Given the description of an element on the screen output the (x, y) to click on. 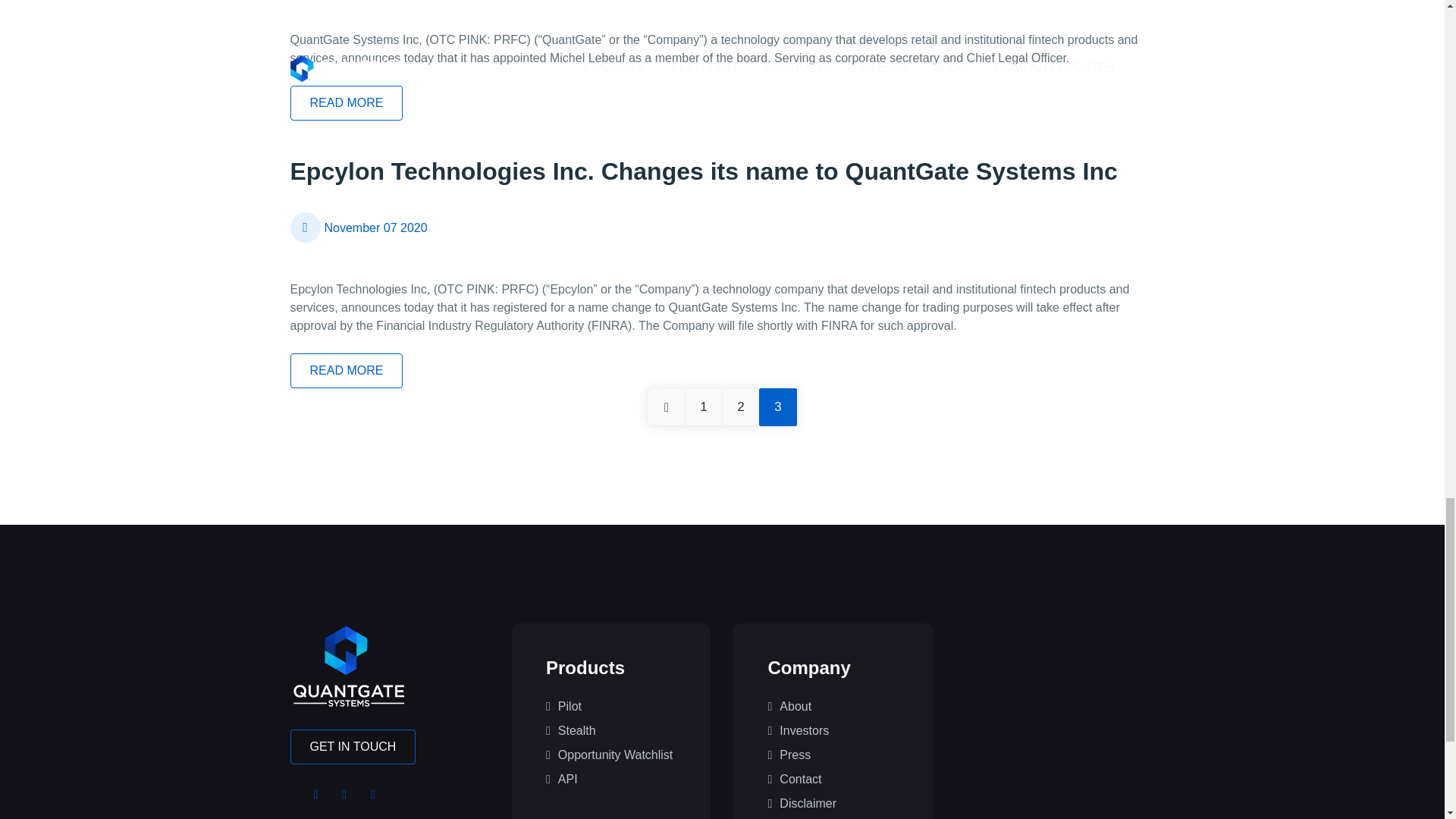
READ MORE (346, 102)
Pilot (611, 706)
2 (741, 406)
Press (832, 755)
Contact (832, 779)
Opportunity Watchlist (611, 755)
3 (777, 406)
API (611, 779)
READ MORE (346, 370)
Investors (832, 730)
GET IN TOUCH (351, 746)
1 (703, 406)
Stealth (611, 730)
About (832, 706)
